Given the description of an element on the screen output the (x, y) to click on. 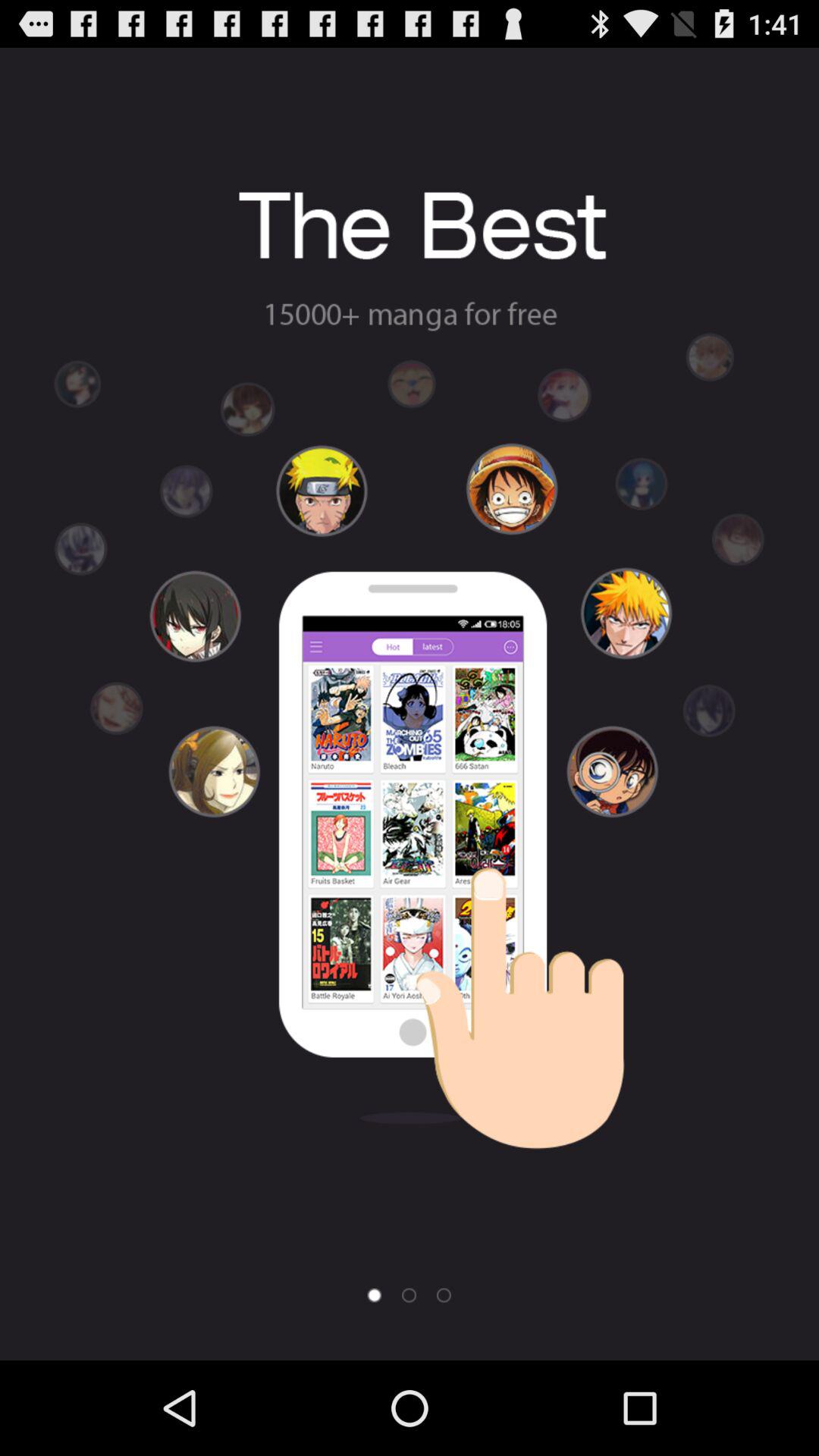
screen next page button (408, 1294)
